Given the description of an element on the screen output the (x, y) to click on. 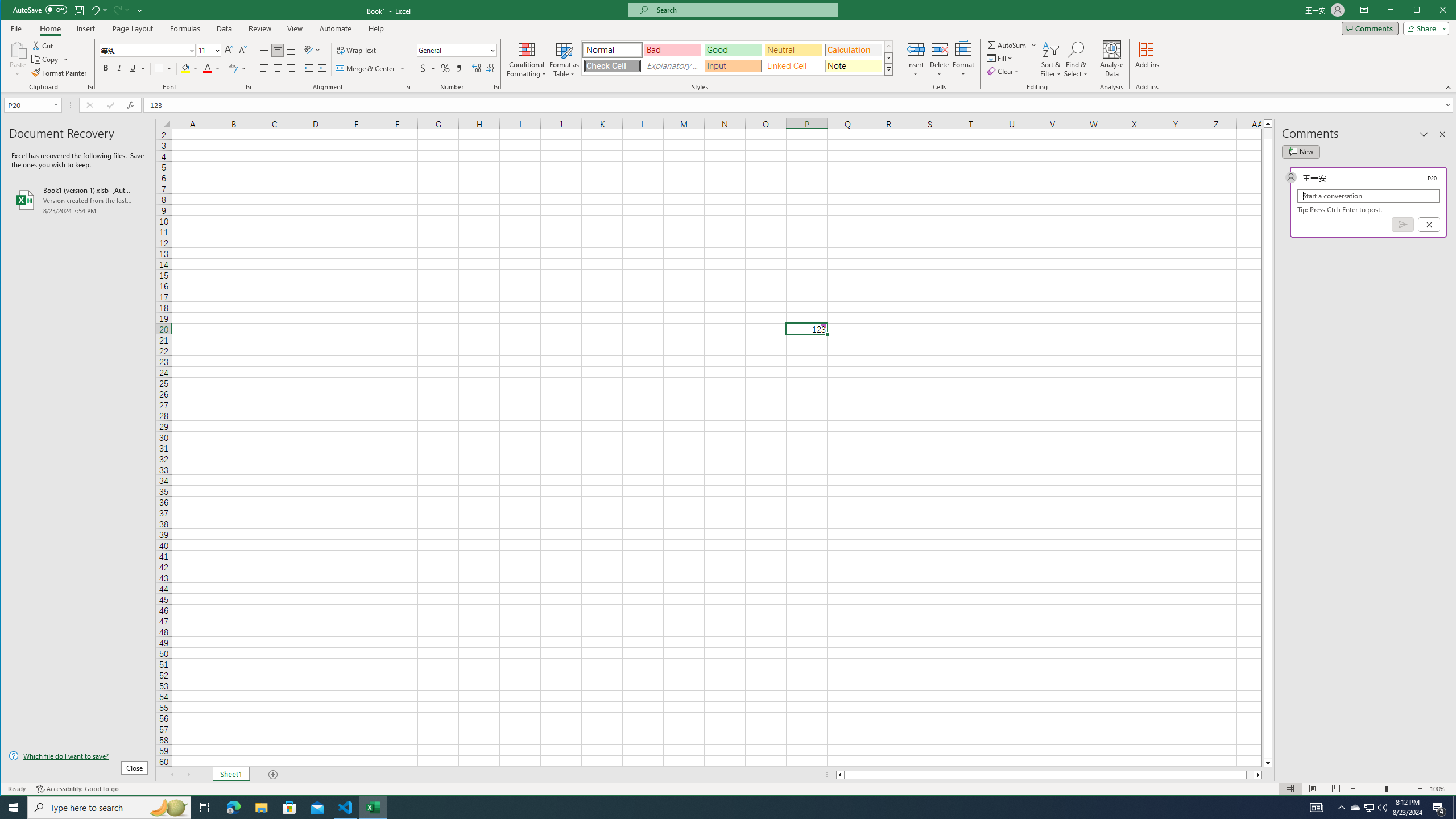
Action Center, 4 new notifications (1439, 807)
Accounting Number Format (422, 68)
Comma Style (458, 68)
Increase Font Size (228, 49)
Sum (1007, 44)
